Given the description of an element on the screen output the (x, y) to click on. 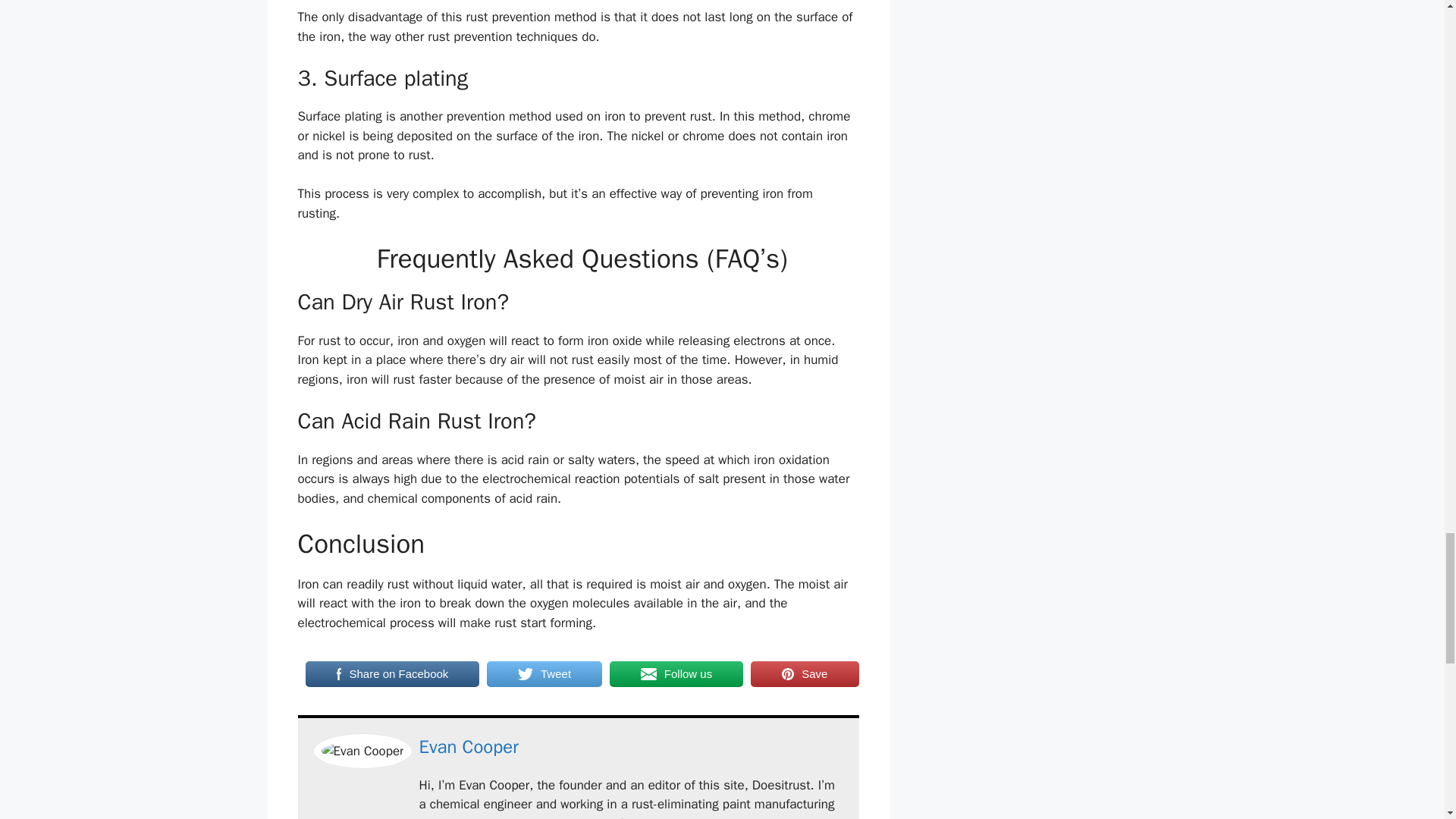
Save (805, 674)
Share on Facebook (391, 674)
Tweet (544, 674)
Follow us (676, 674)
Evan Cooper (468, 746)
Evan Cooper (468, 746)
